Given the description of an element on the screen output the (x, y) to click on. 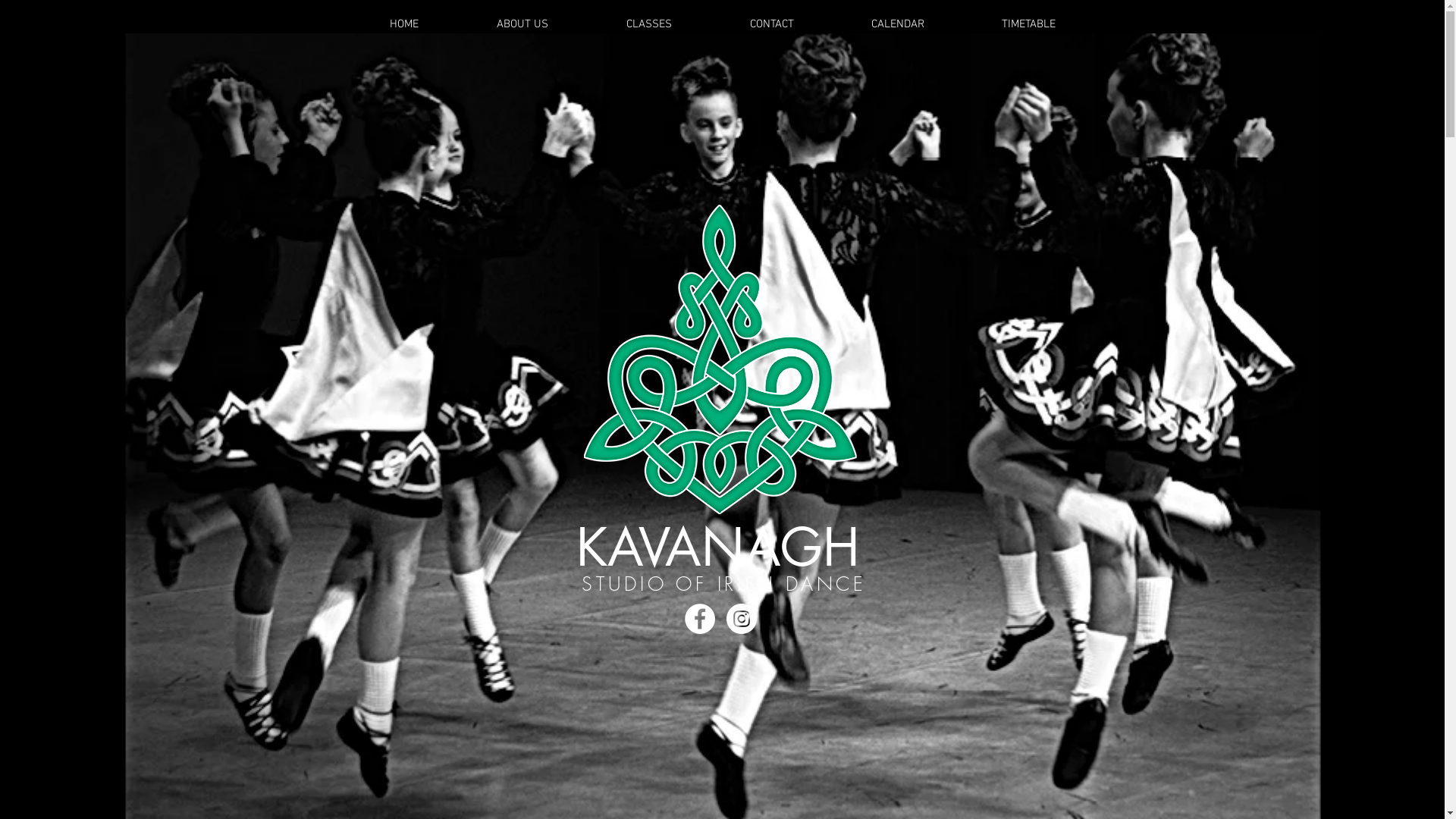
ABOUT US Element type: text (522, 24)
KAVANAGH Element type: text (717, 547)
TIMETABLE Element type: text (1028, 24)
HOME Element type: text (403, 24)
CLASSES Element type: text (648, 24)
CONTACT Element type: text (771, 24)
CALENDAR Element type: text (897, 24)
